Given the description of an element on the screen output the (x, y) to click on. 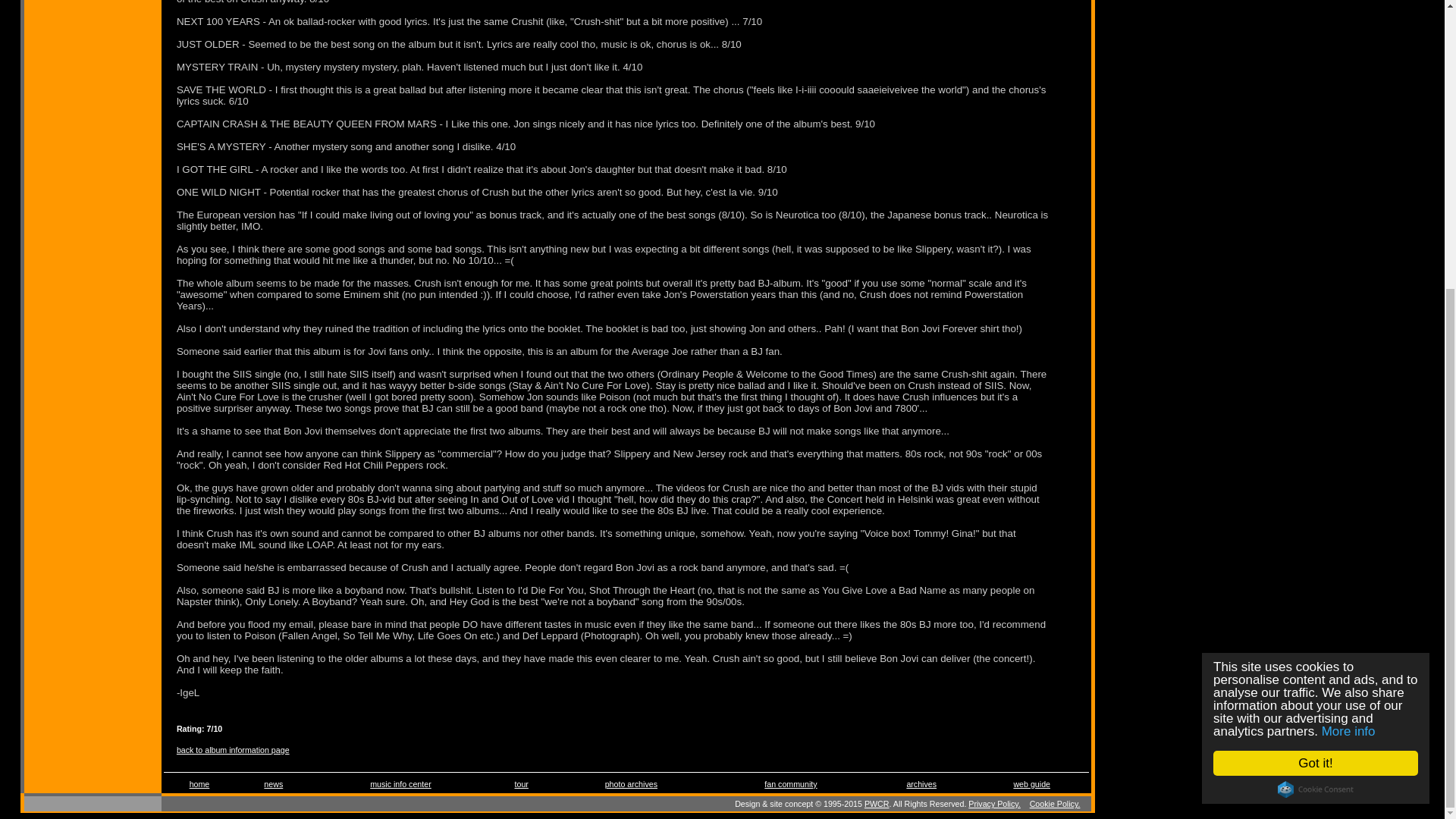
PWCR (876, 803)
Cookie Policy. (1054, 803)
fan community (790, 783)
archives (920, 783)
Cookie Consent plugin for the EU cookie law (1328, 350)
photo archives (631, 783)
home (199, 783)
Got it! (1329, 324)
music info center (399, 783)
web guide (1031, 783)
